Given the description of an element on the screen output the (x, y) to click on. 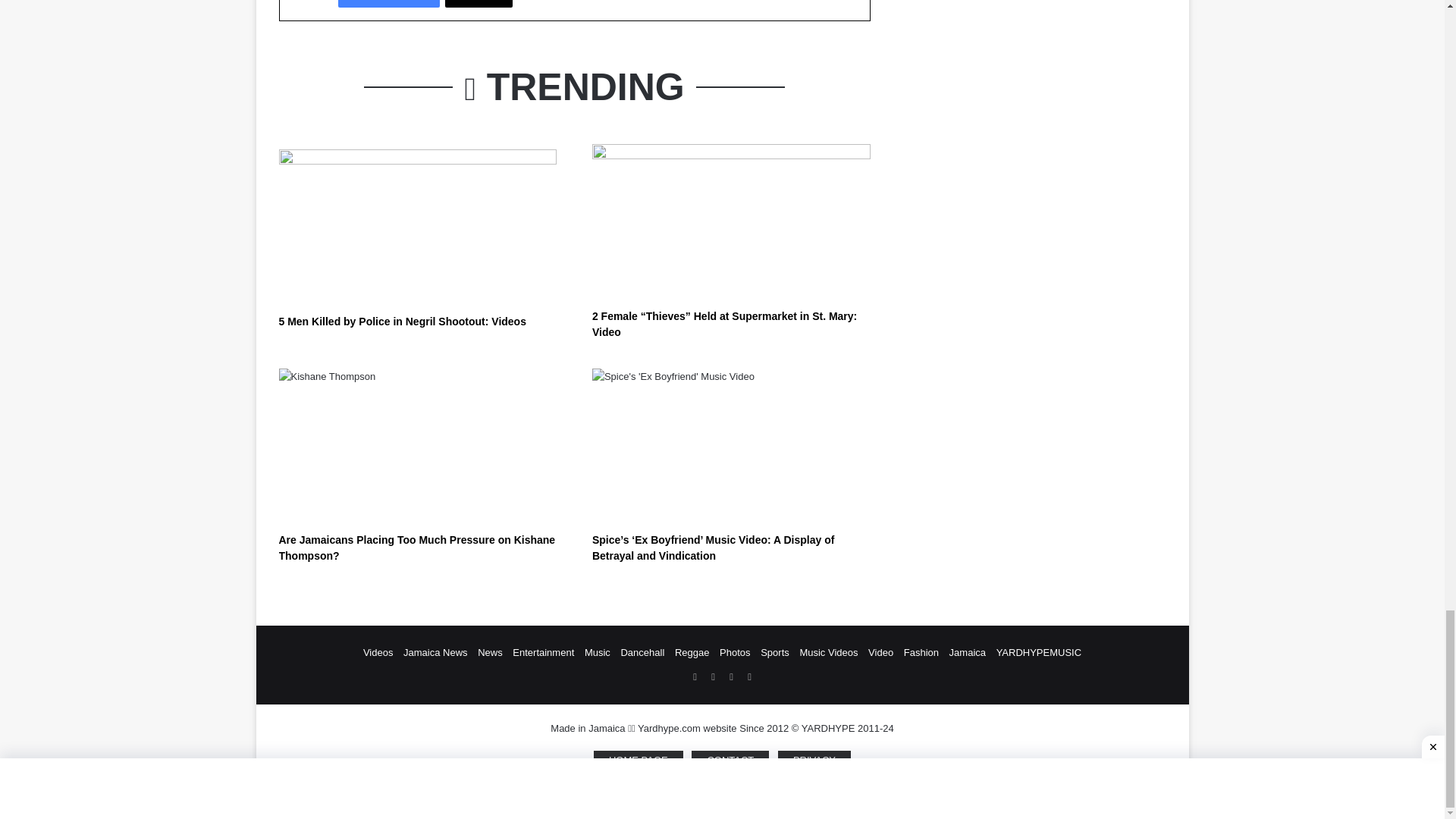
Facebook (388, 3)
X (478, 3)
